Given the description of an element on the screen output the (x, y) to click on. 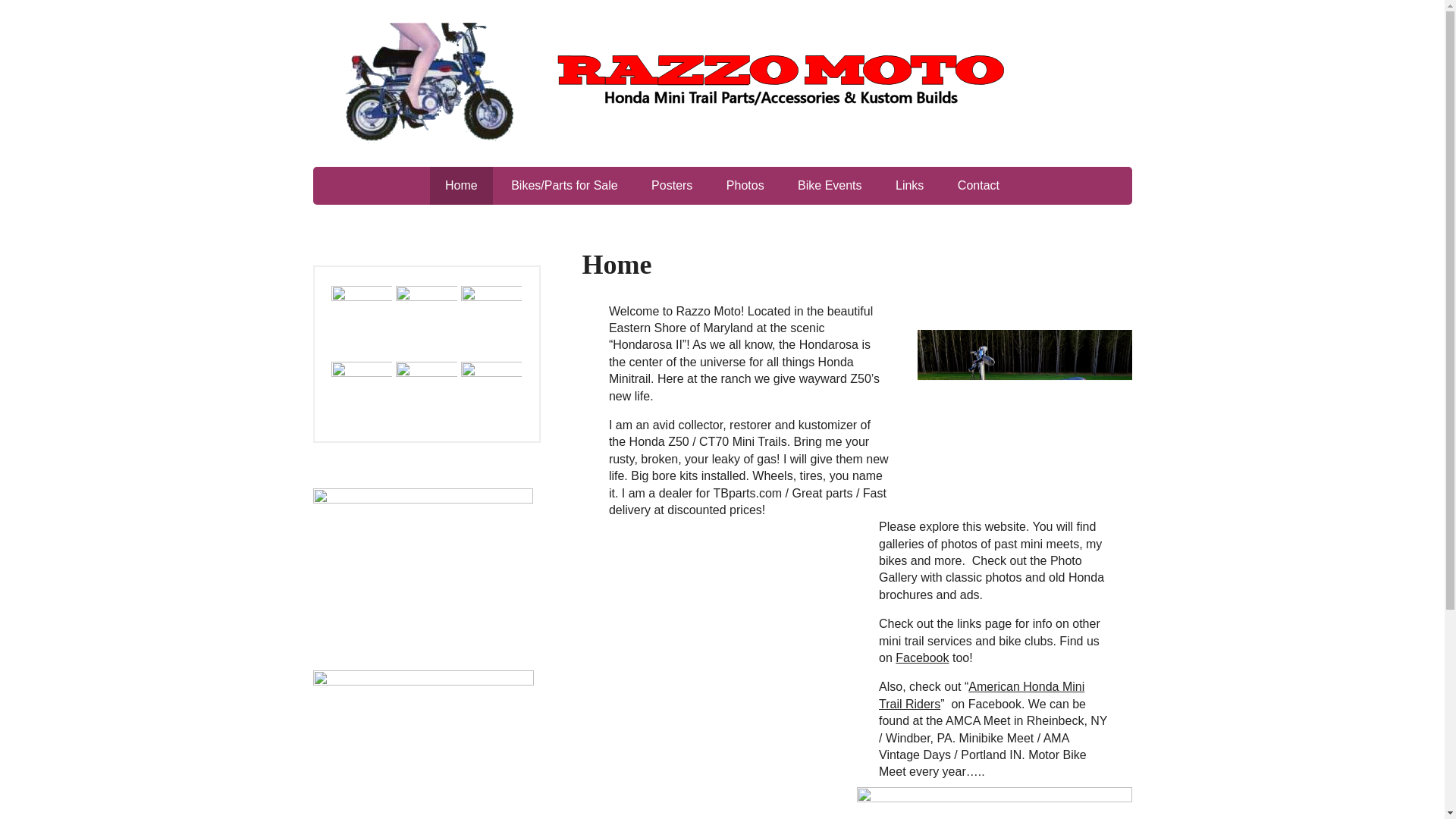
Facebook (922, 657)
American Honda Mini Trail Riders (981, 695)
Bike Events (829, 185)
Contact (978, 185)
Links (909, 185)
Posters (671, 185)
Photos (744, 185)
